Given the description of an element on the screen output the (x, y) to click on. 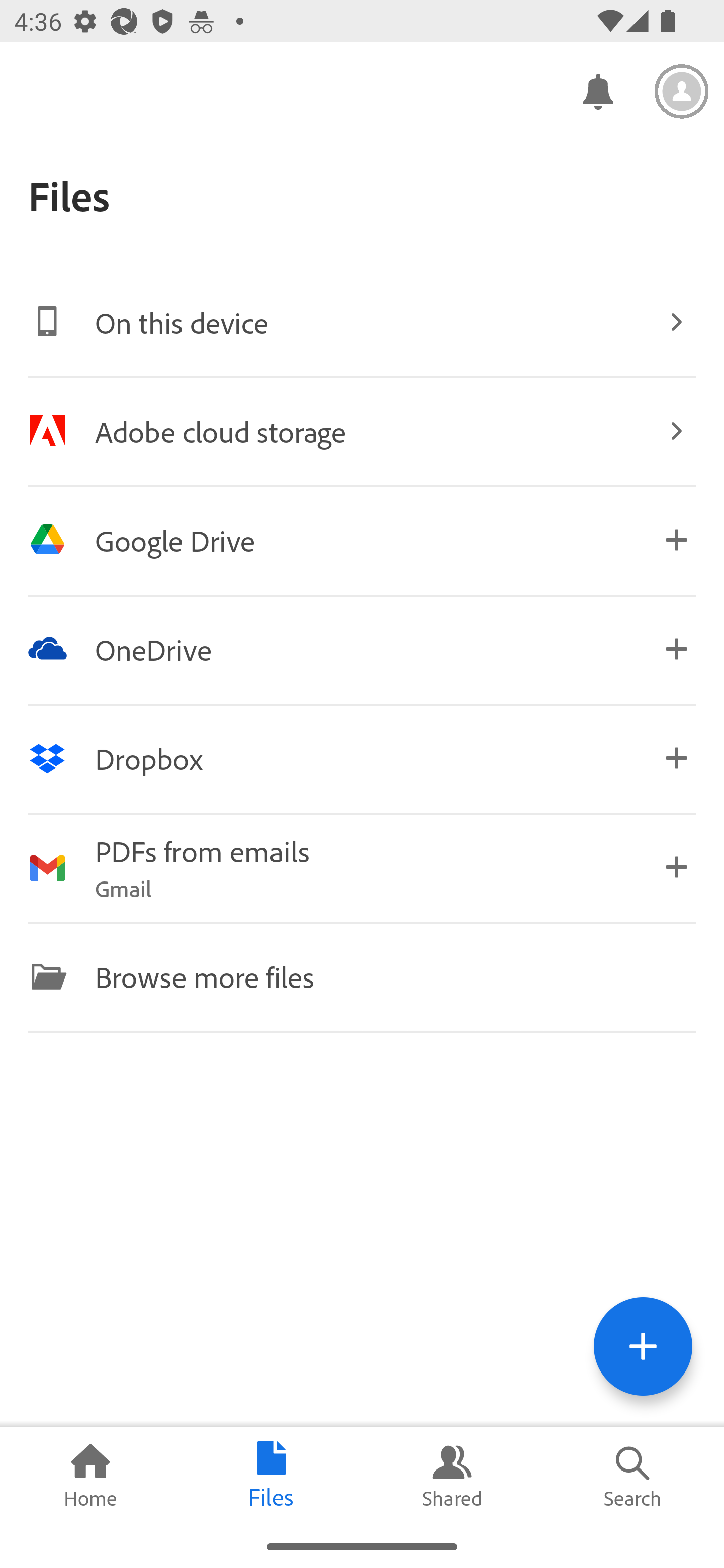
Notifications (597, 90)
Settings (681, 91)
Image On this device (362, 322)
Image Adobe cloud storage (362, 431)
Image Google Drive (362, 540)
Image OneDrive (362, 649)
Image Dropbox (362, 758)
Image PDFs from emails Gmail (362, 866)
Image Browse more files (362, 975)
Tools (642, 1345)
Home (90, 1475)
Files (271, 1475)
Shared (452, 1475)
Search (633, 1475)
